Given the description of an element on the screen output the (x, y) to click on. 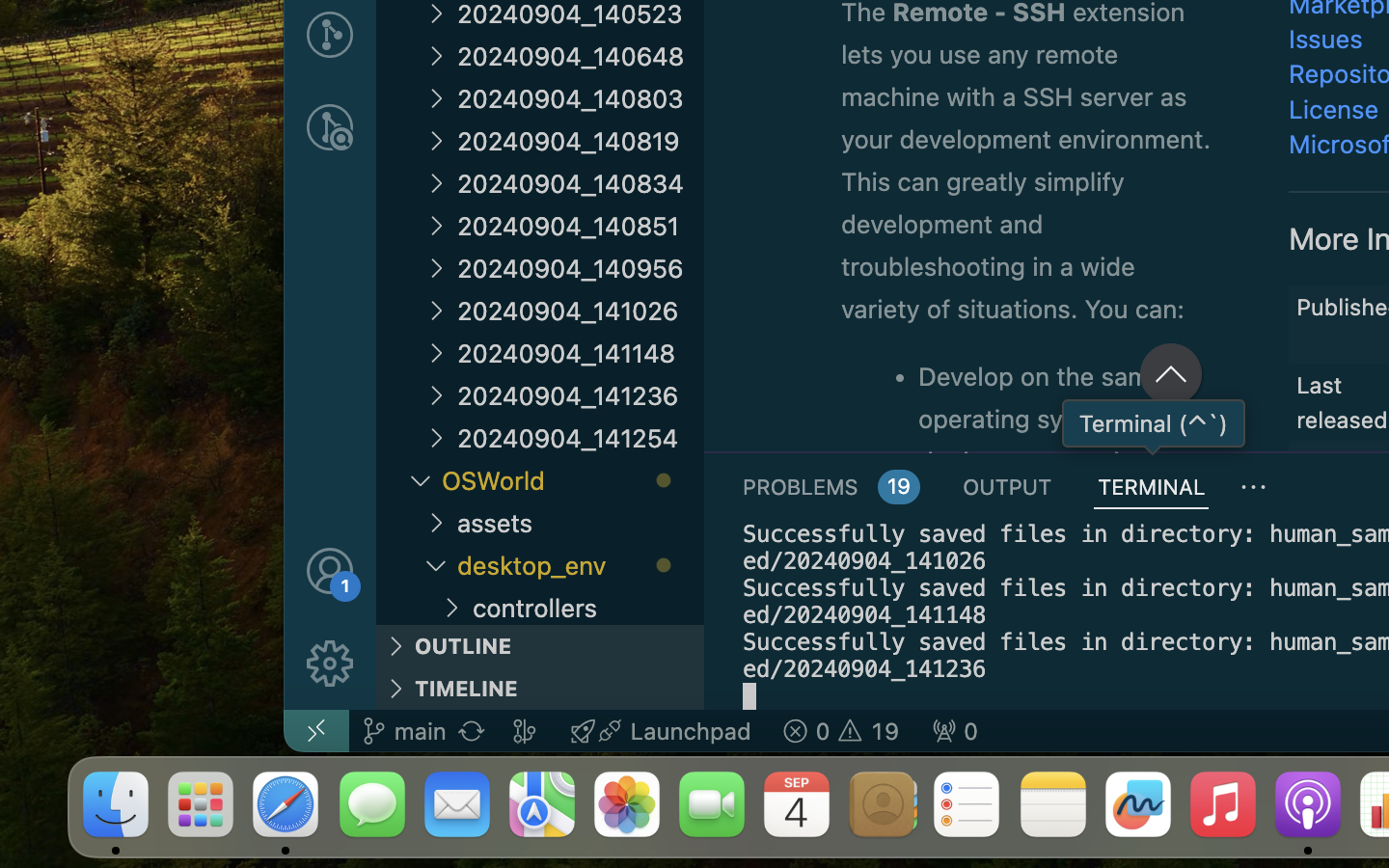
20240904_140851 Element type: AXGroup (580, 225)
20240904_141026 Element type: AXGroup (580, 310)
Develop on the same operating system you deploy to or use larger, faster, or more specialized hardware than your local machine. Element type: AXStaticText (1060, 407)
OSWorld  Element type: AXGroup (572, 480)
Issues Element type: AXStaticText (1325, 38)
